Given the description of an element on the screen output the (x, y) to click on. 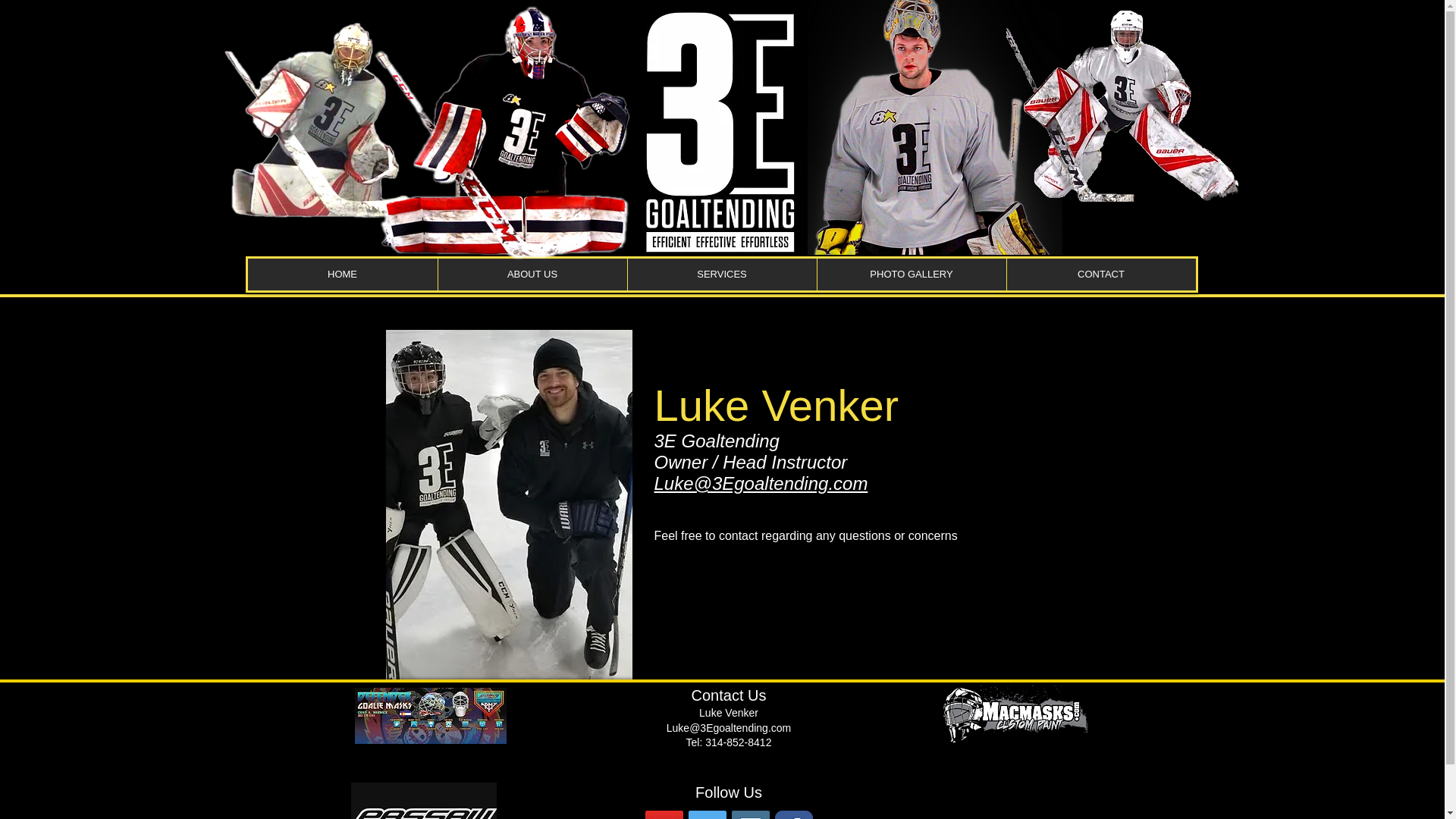
ABOUT US Element type: text (531, 274)
Luke@3Egoaltending.com Element type: text (760, 483)
SERVICES Element type: text (720, 274)
3E Goaltending, goalie training Element type: hover (721, 131)
CONTACT Element type: text (1100, 274)
PHOTO GALLERY Element type: text (910, 274)
HOME Element type: text (341, 274)
